Given the description of an element on the screen output the (x, y) to click on. 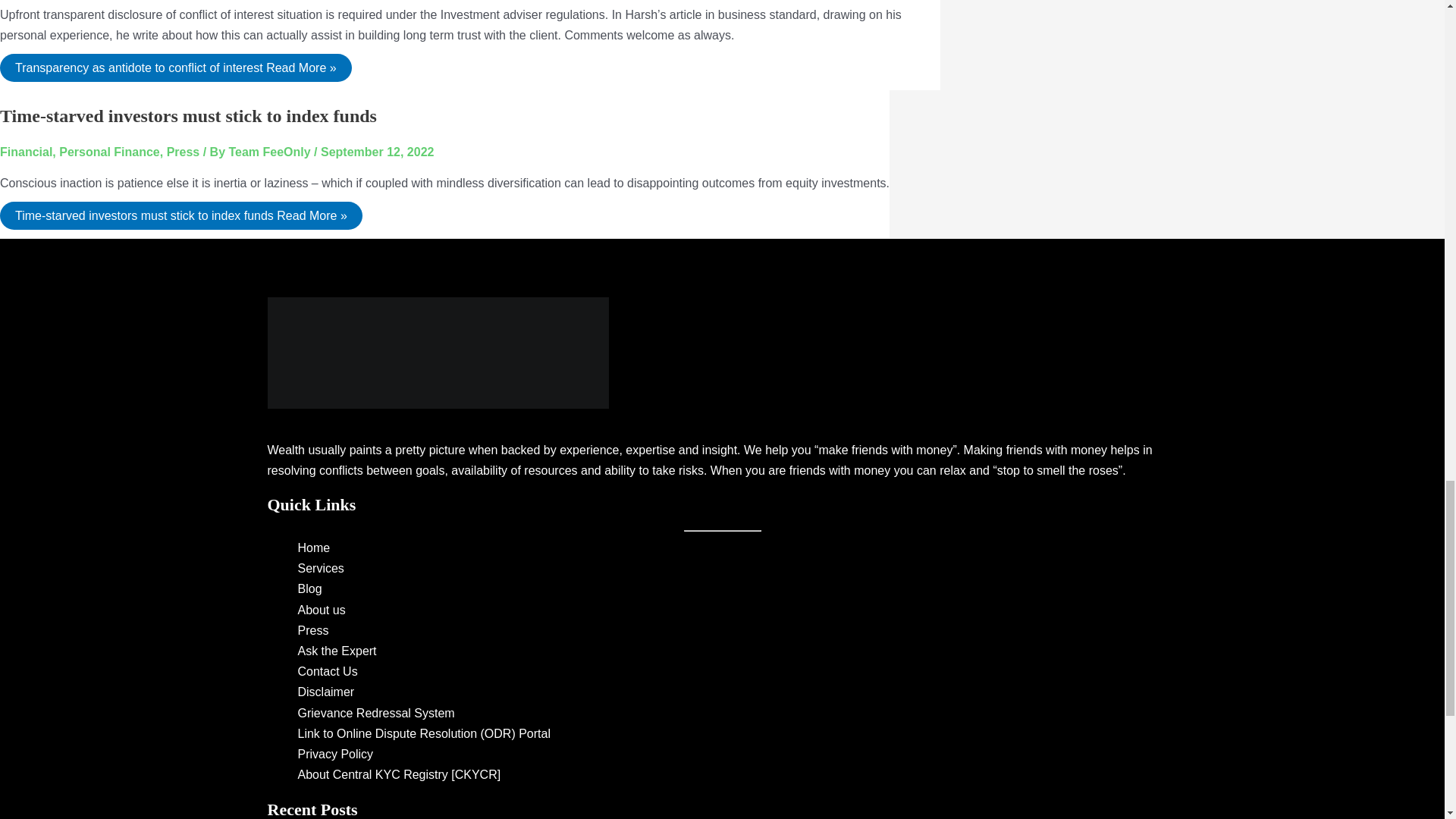
View all posts by Team FeeOnly (271, 151)
